Given the description of an element on the screen output the (x, y) to click on. 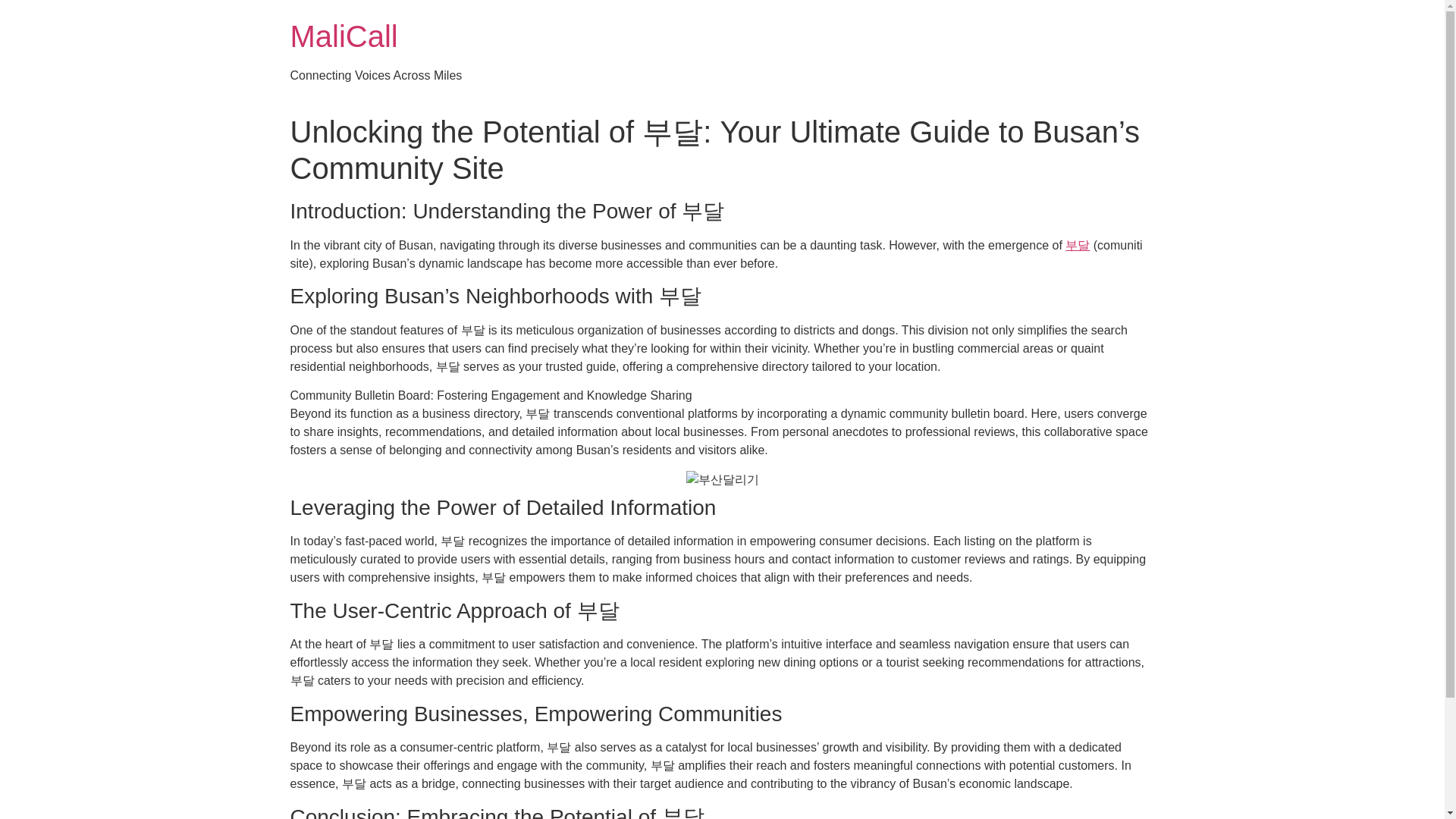
Home (343, 36)
MaliCall (343, 36)
